Given the description of an element on the screen output the (x, y) to click on. 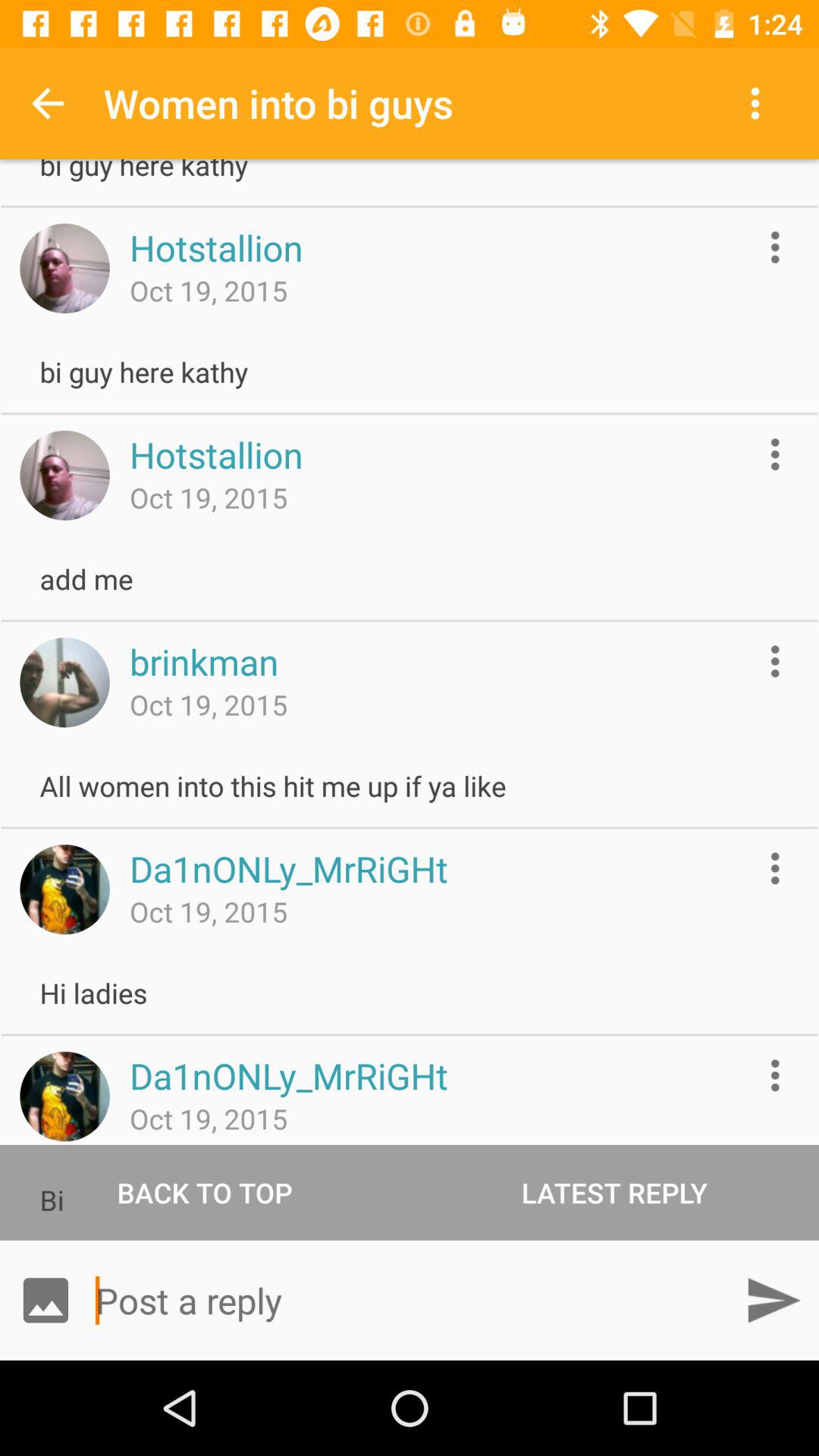
get more information (775, 1075)
